Given the description of an element on the screen output the (x, y) to click on. 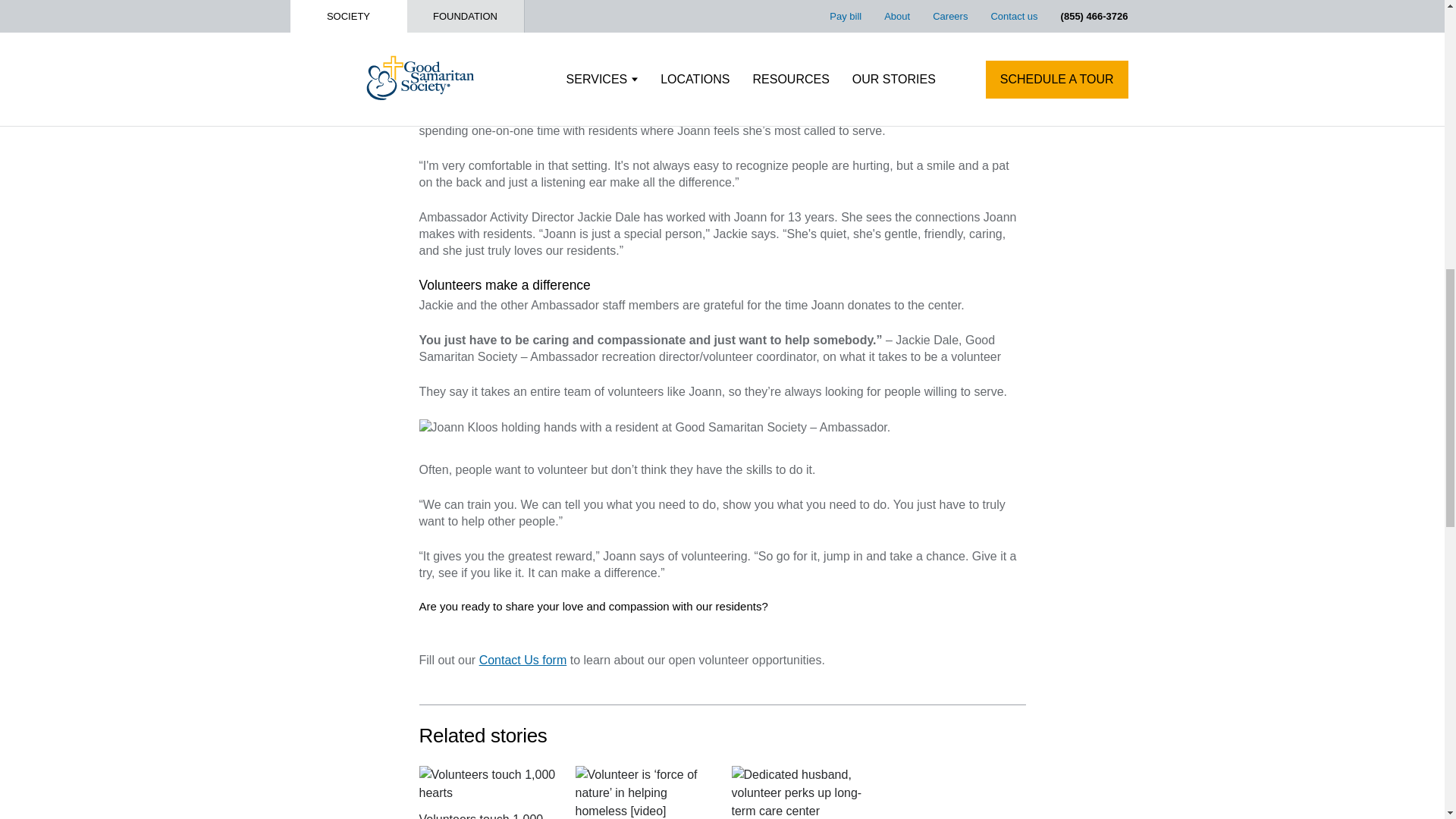
Volunteers touch 1,000 hearts (487, 783)
Volunteers touch 1,000 hearts (487, 792)
Contact Us form (523, 659)
Dedicated husband, volunteer perks up long-term care center (799, 792)
Dedicated husband, volunteer perks up long-term care center (799, 792)
